Given the description of an element on the screen output the (x, y) to click on. 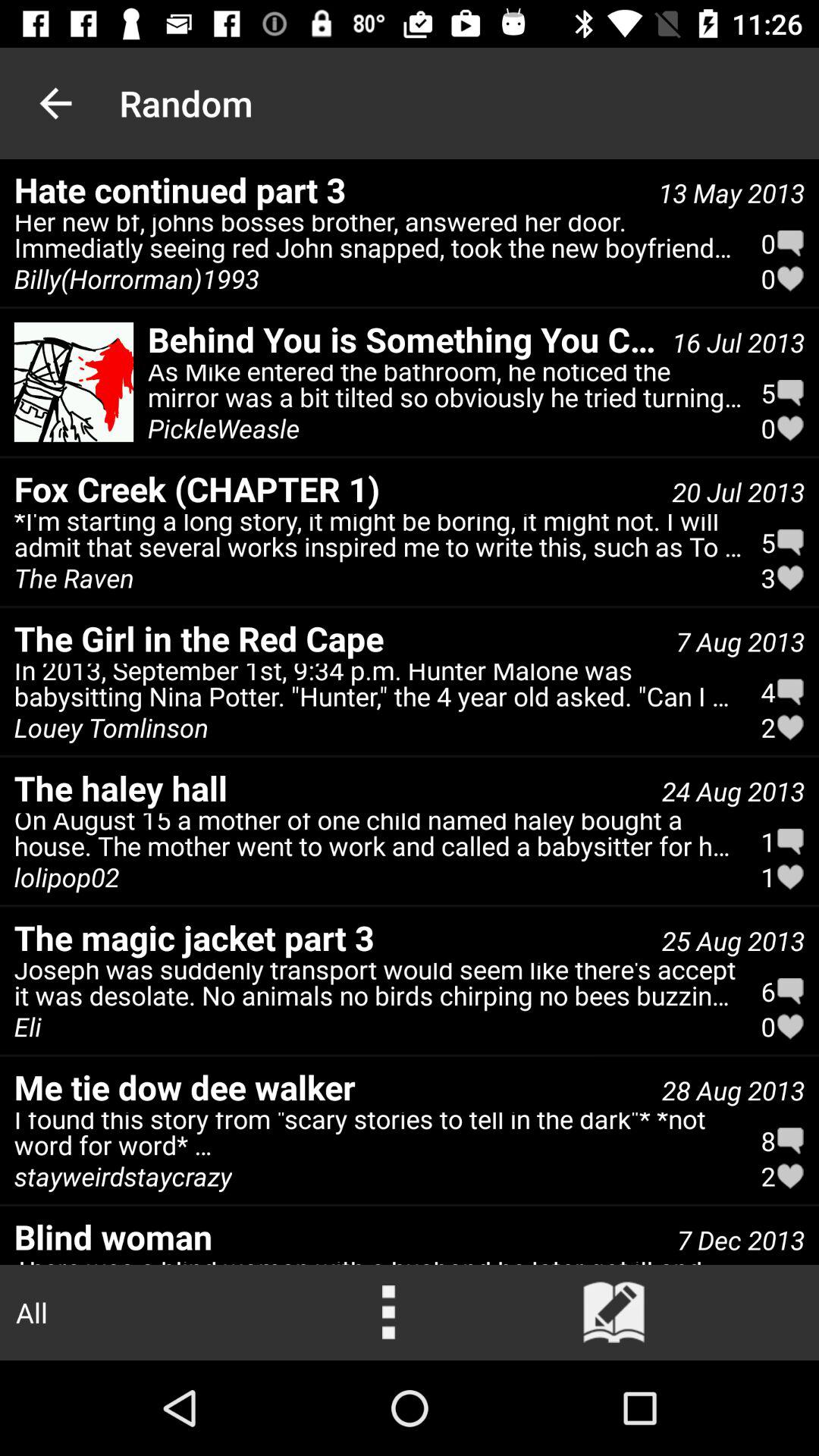
write new stories (614, 1312)
